Given the description of an element on the screen output the (x, y) to click on. 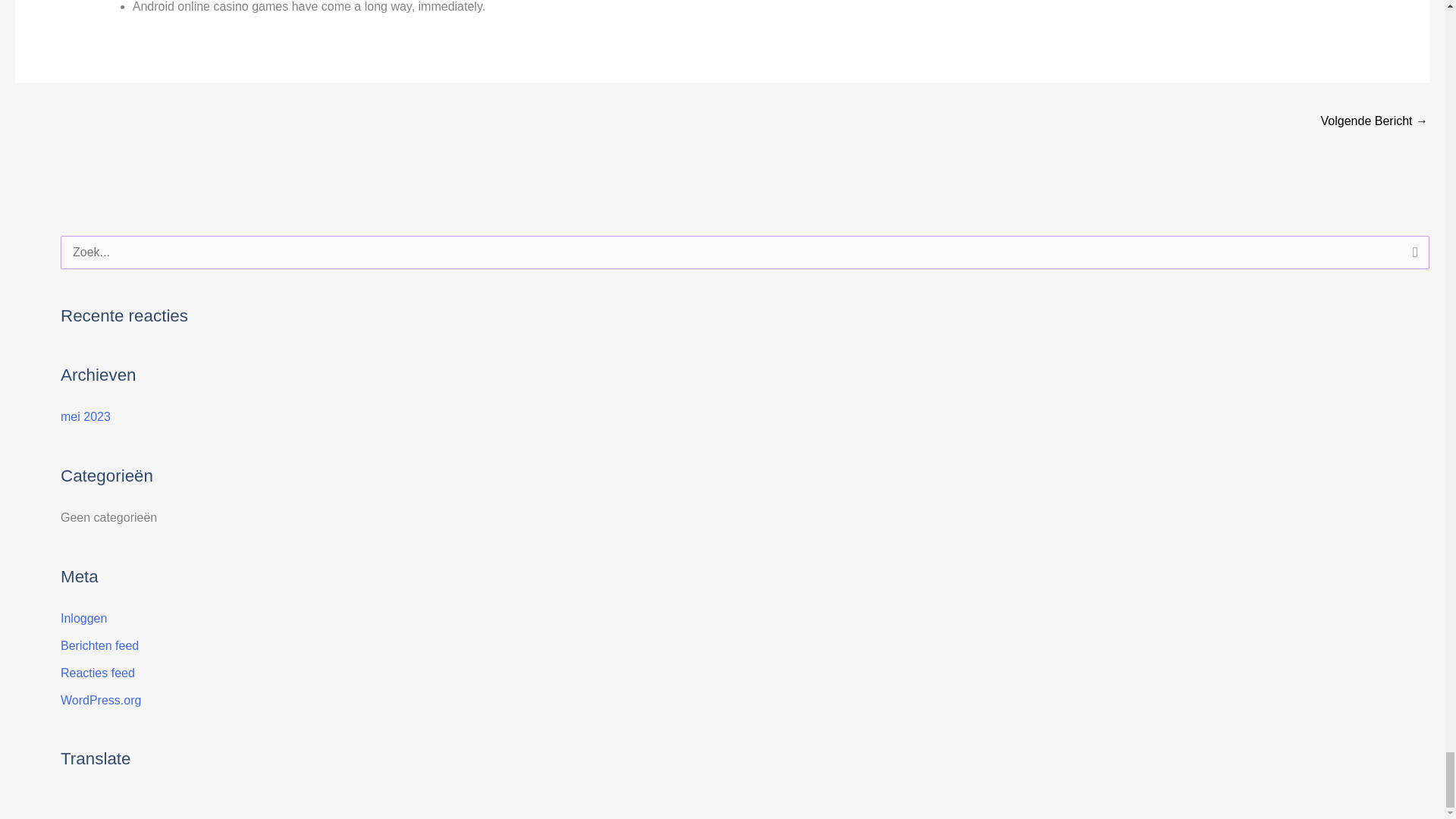
Berichten feed (99, 645)
mei 2023 (85, 416)
Reacties feed (98, 672)
Inloggen (83, 617)
What Are The Best Bets In Up Pompay (1374, 122)
WordPress.org (101, 699)
